Given the description of an element on the screen output the (x, y) to click on. 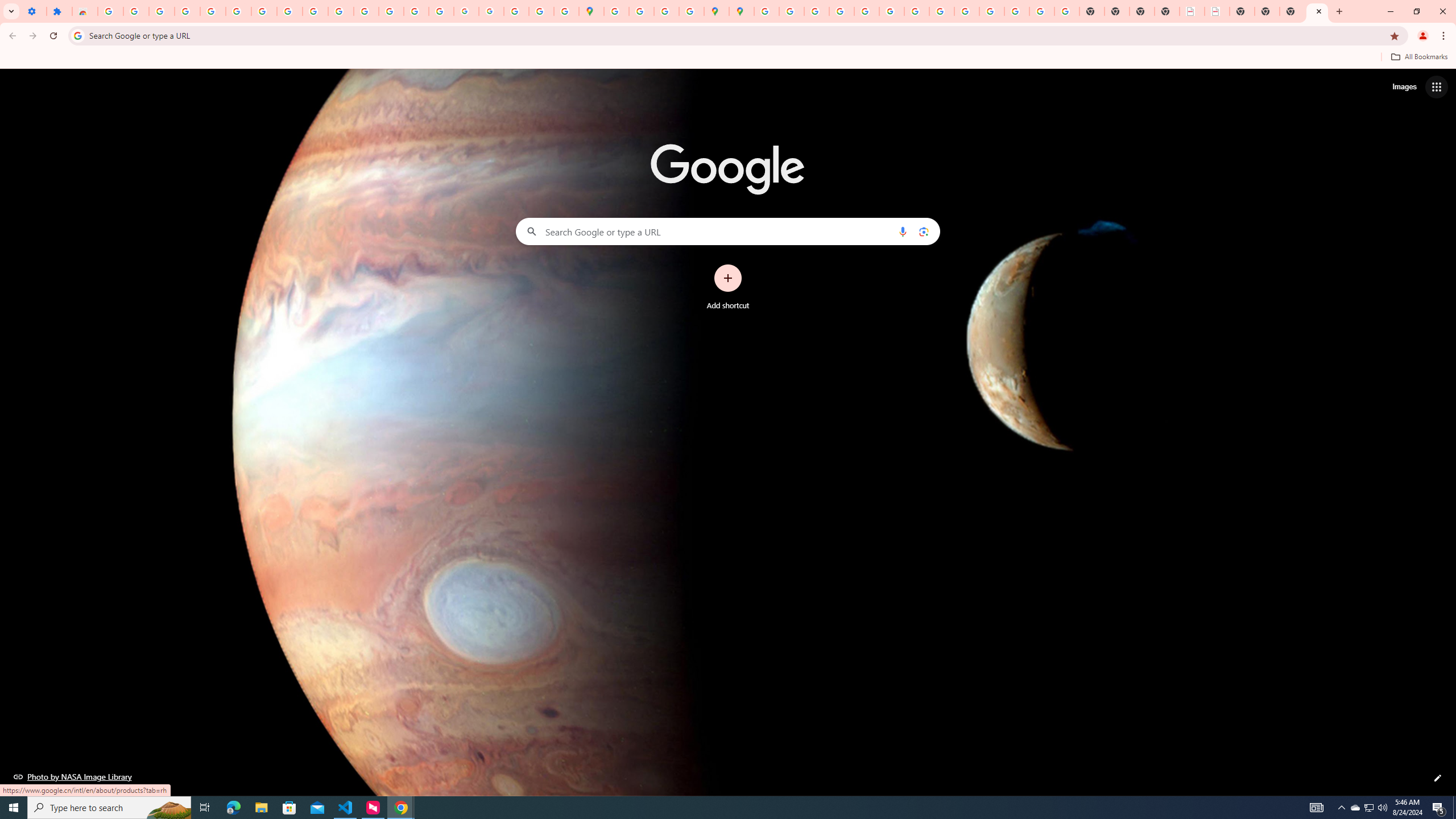
Safety in Our Products - Google Safety Center (691, 11)
Google Maps (590, 11)
Delete photos & videos - Computer - Google Photos Help (161, 11)
